Given the description of an element on the screen output the (x, y) to click on. 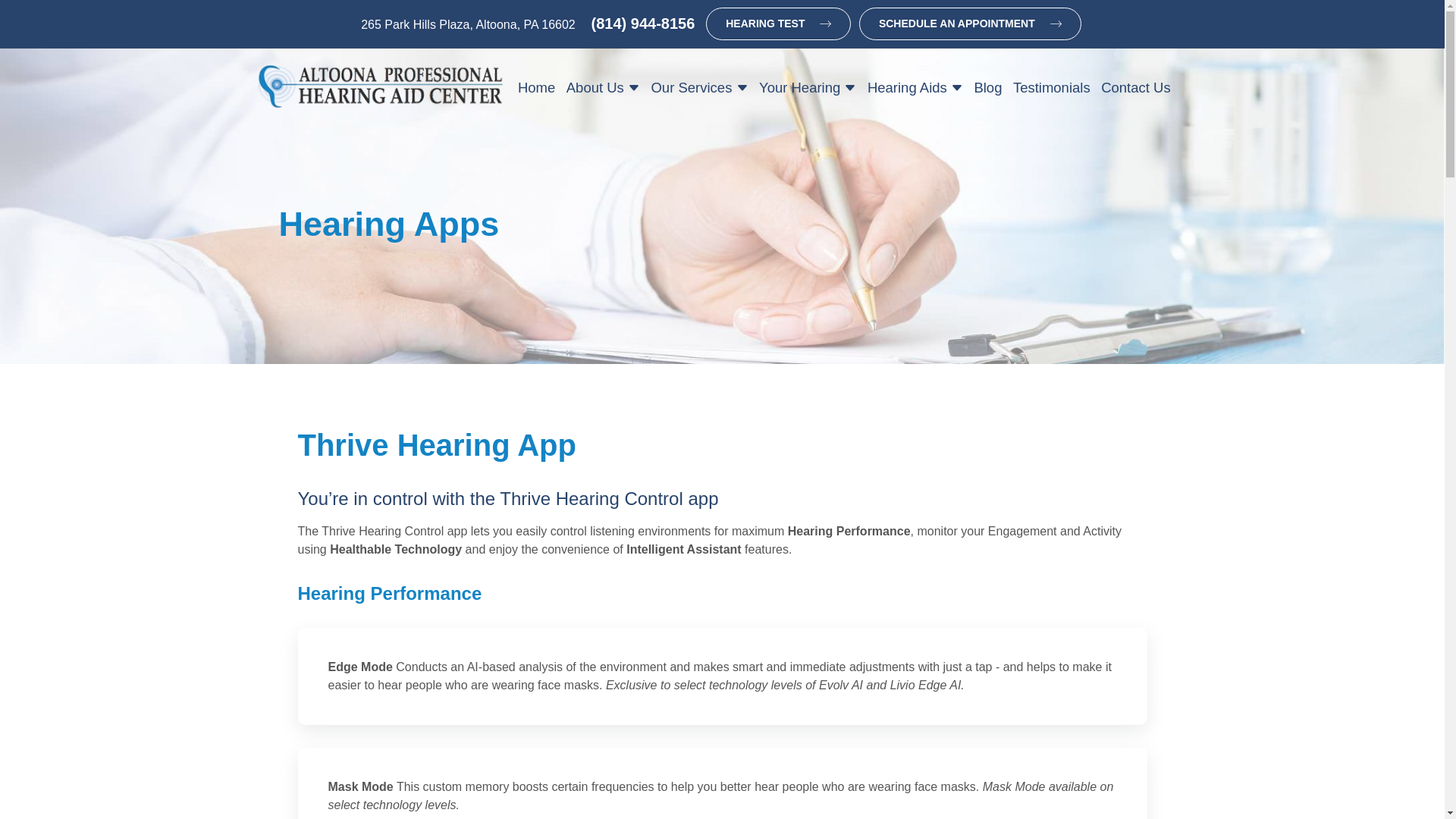
About Us (602, 87)
Contact Us (1135, 88)
Hearing Aids (914, 87)
Blog (987, 88)
Home (536, 88)
Testimonials (1051, 88)
Our Services (698, 87)
Your Hearing (807, 87)
HEARING TEST (778, 23)
SCHEDULE AN APPOINTMENT (970, 23)
